Given the description of an element on the screen output the (x, y) to click on. 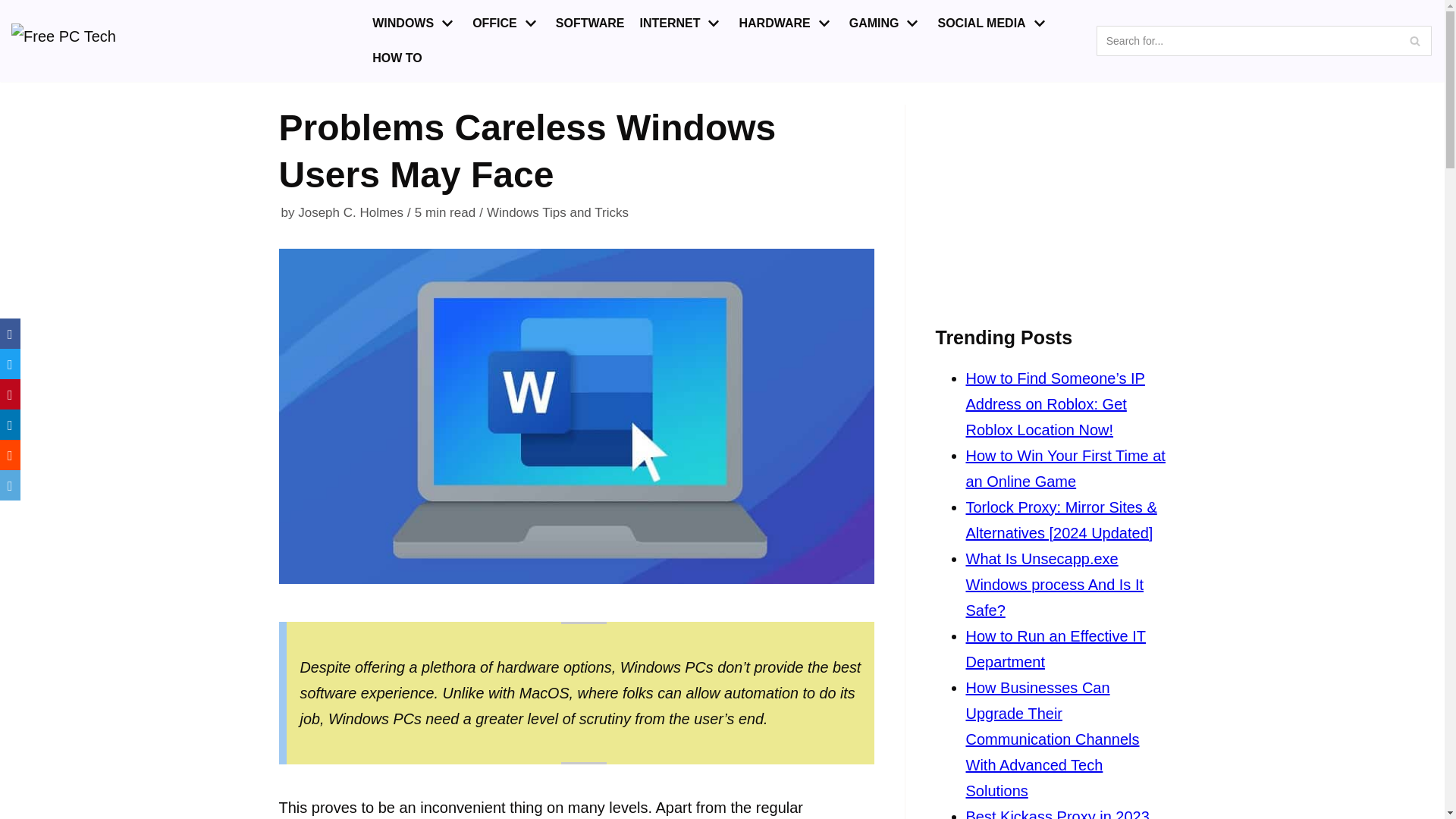
Advertisement (1051, 199)
SOFTWARE (590, 23)
GAMING (885, 23)
Skip to content (15, 7)
Free PC Tech (79, 40)
OFFICE (505, 23)
WINDOWS (414, 23)
HARDWARE (785, 23)
SOCIAL MEDIA (992, 23)
Posts by Joseph C. Holmes (350, 212)
HOW TO (397, 57)
INTERNET (681, 23)
